Given the description of an element on the screen output the (x, y) to click on. 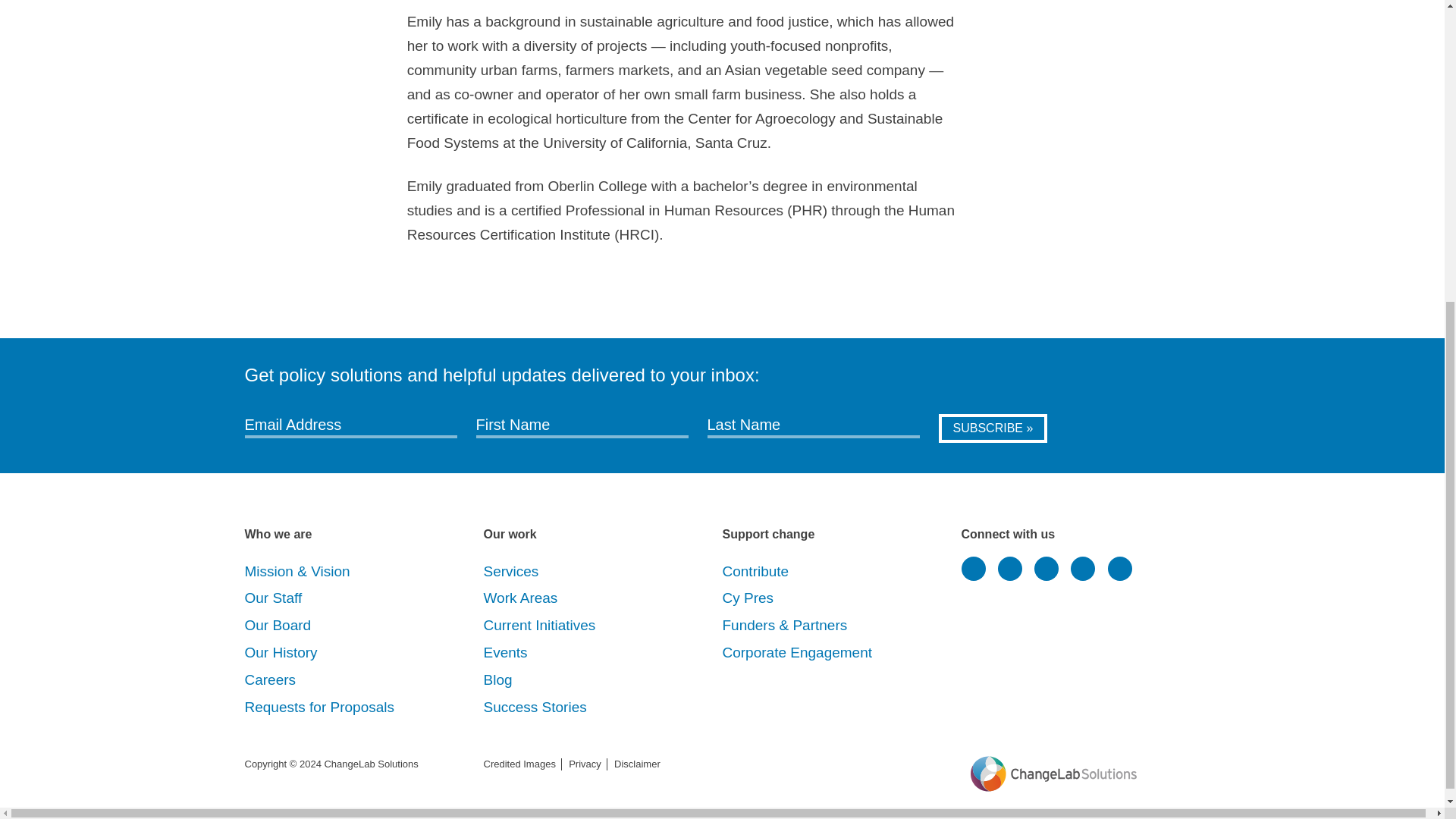
Twitter (972, 569)
Meet our Board (277, 625)
Success Stories (534, 706)
Events (505, 652)
Blog (497, 679)
Services (510, 571)
Careers (269, 679)
Contribute (755, 571)
LinkedIn (1009, 569)
Facebook (1045, 569)
